Given the description of an element on the screen output the (x, y) to click on. 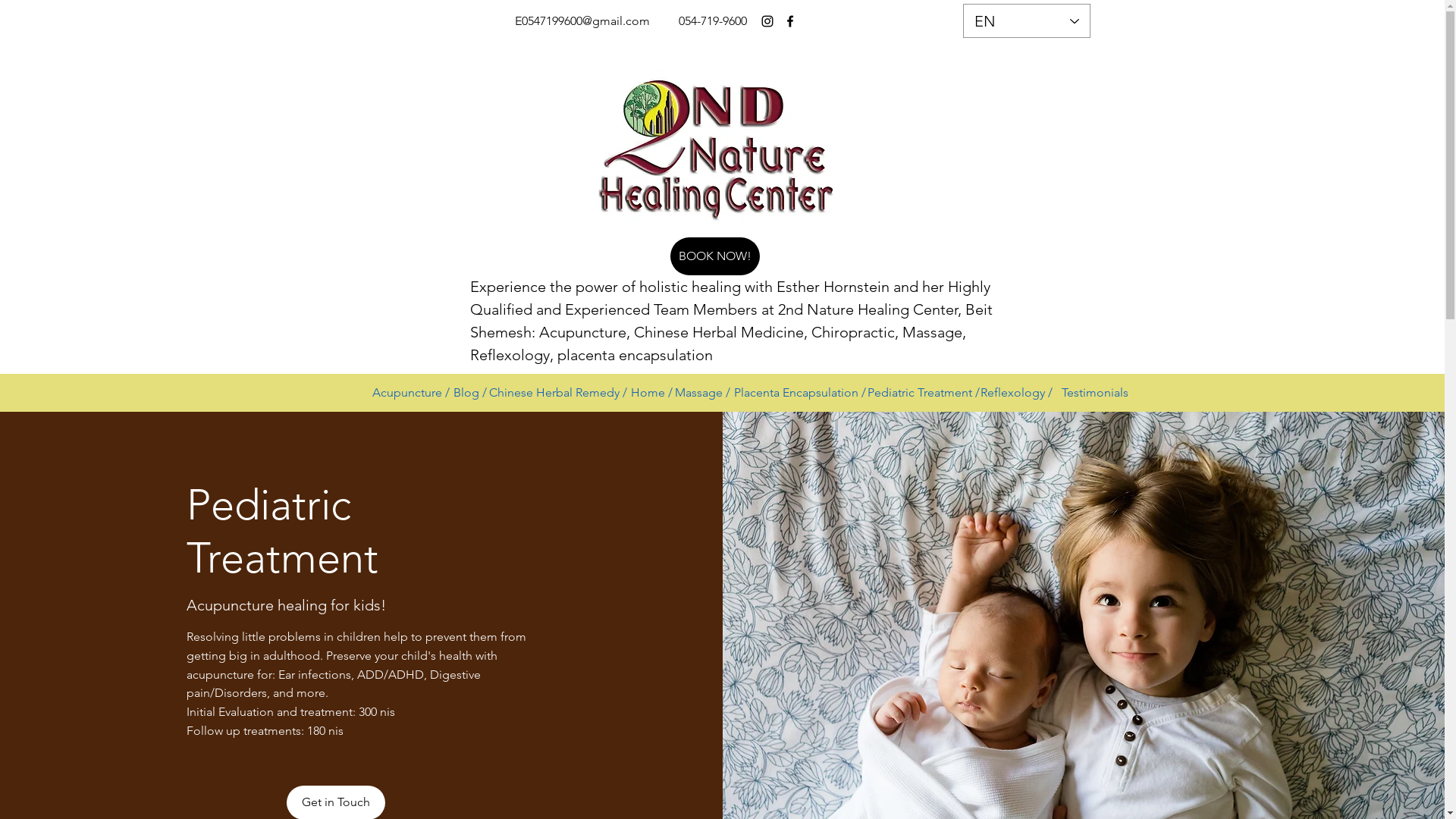
BOOK NOW! Element type: text (714, 256)
Reflexology / Element type: text (1016, 392)
Pediatric Treatment / Element type: text (923, 392)
Testimonials Element type: text (1094, 392)
Acupuncture / Element type: text (410, 392)
Massage / Element type: text (702, 392)
Placenta Encapsulation / Element type: text (800, 392)
Chinese Herbal Remedy / Element type: text (557, 392)
Home / Element type: text (651, 392)
E0547199600@gmail.com Element type: text (581, 20)
Highly professional and Experienced Therapist Element type: hover (708, 149)
Blog / Element type: text (469, 392)
